Given the description of an element on the screen output the (x, y) to click on. 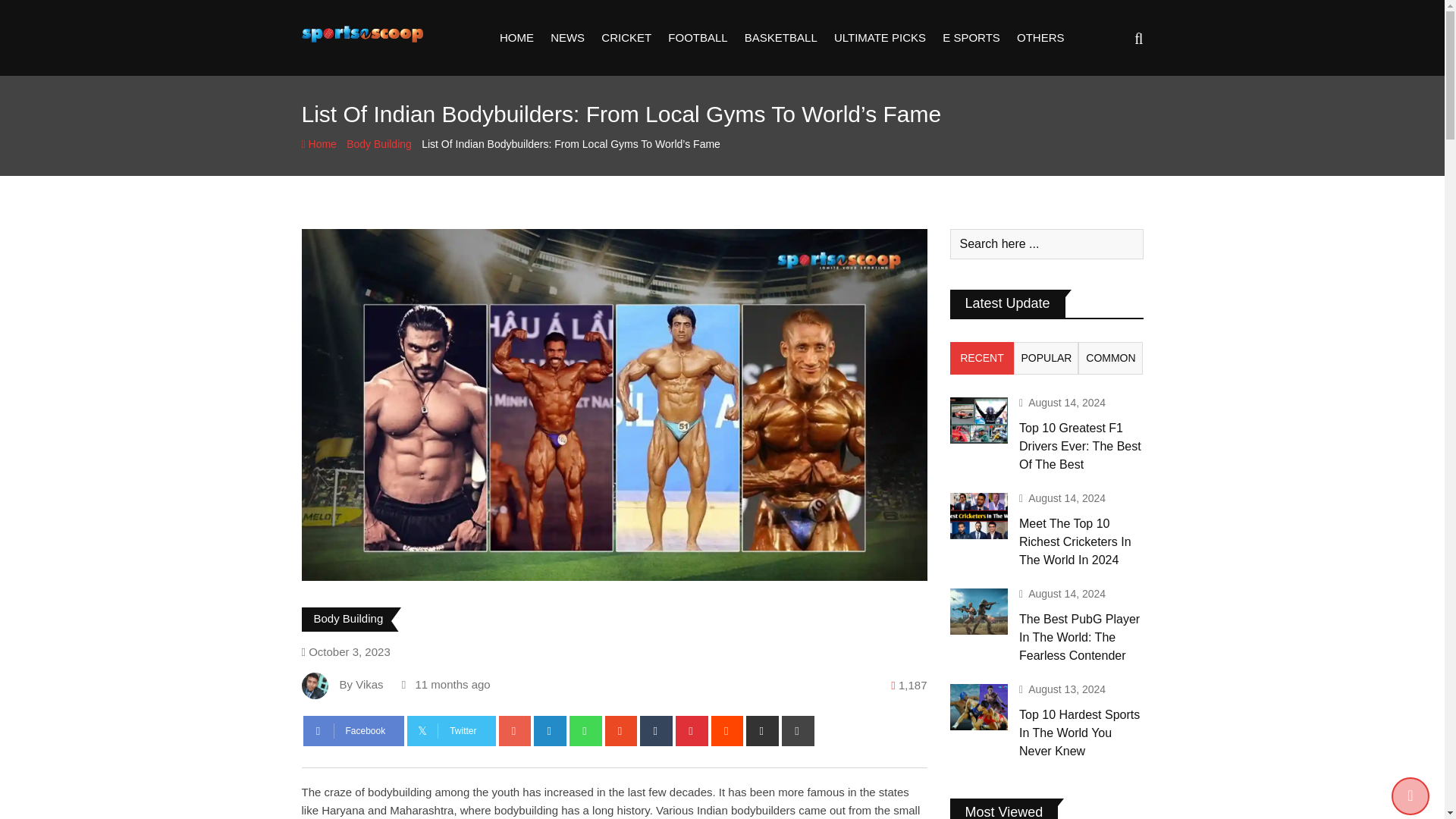
Top 10 Hardest Sports In The World You Never Knew (978, 706)
BASKETBALL (781, 38)
Top 10 Greatest F1 Drivers Ever: The Best Of The Best (978, 420)
Meet The Top 10 Richest Cricketers In The World In 2024 (978, 515)
ULTIMATE PICKS (880, 38)
FOOTBALL (697, 38)
E SPORTS (971, 38)
The Best PubG Player In The World: The Fearless Contender (978, 611)
